Given the description of an element on the screen output the (x, y) to click on. 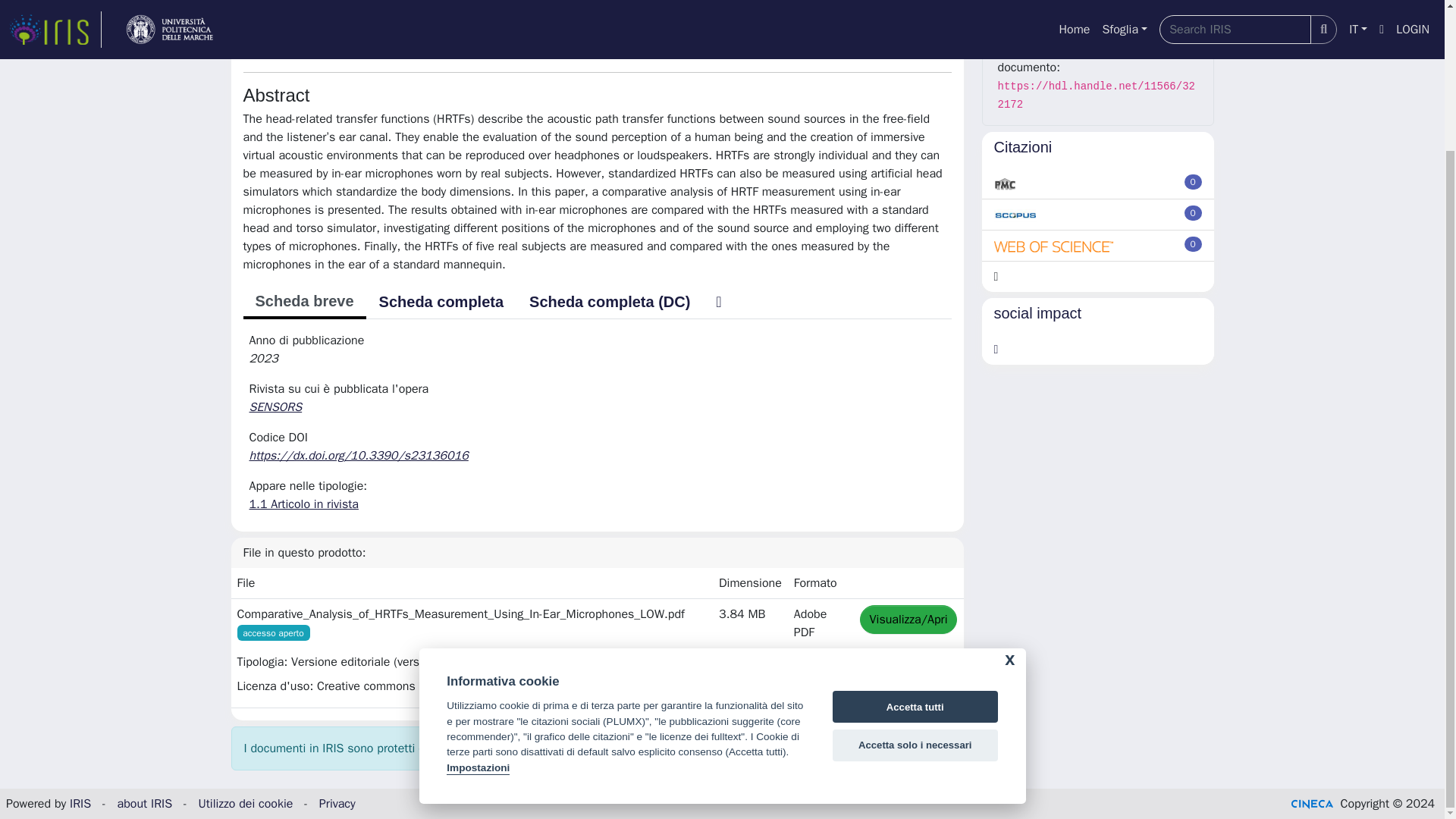
Corresponding author (672, 16)
 Informazioni (1097, 4)
Scheda breve (304, 302)
Cecchi S. (628, 19)
Spinsante S. (542, 19)
Terenzi A. (357, 19)
aggiornato in data 17-05-2024 10:11 (1193, 181)
SENSORS (276, 406)
1.1 Articolo in rivista (303, 503)
Dourou N. A. (445, 19)
